Given the description of an element on the screen output the (x, y) to click on. 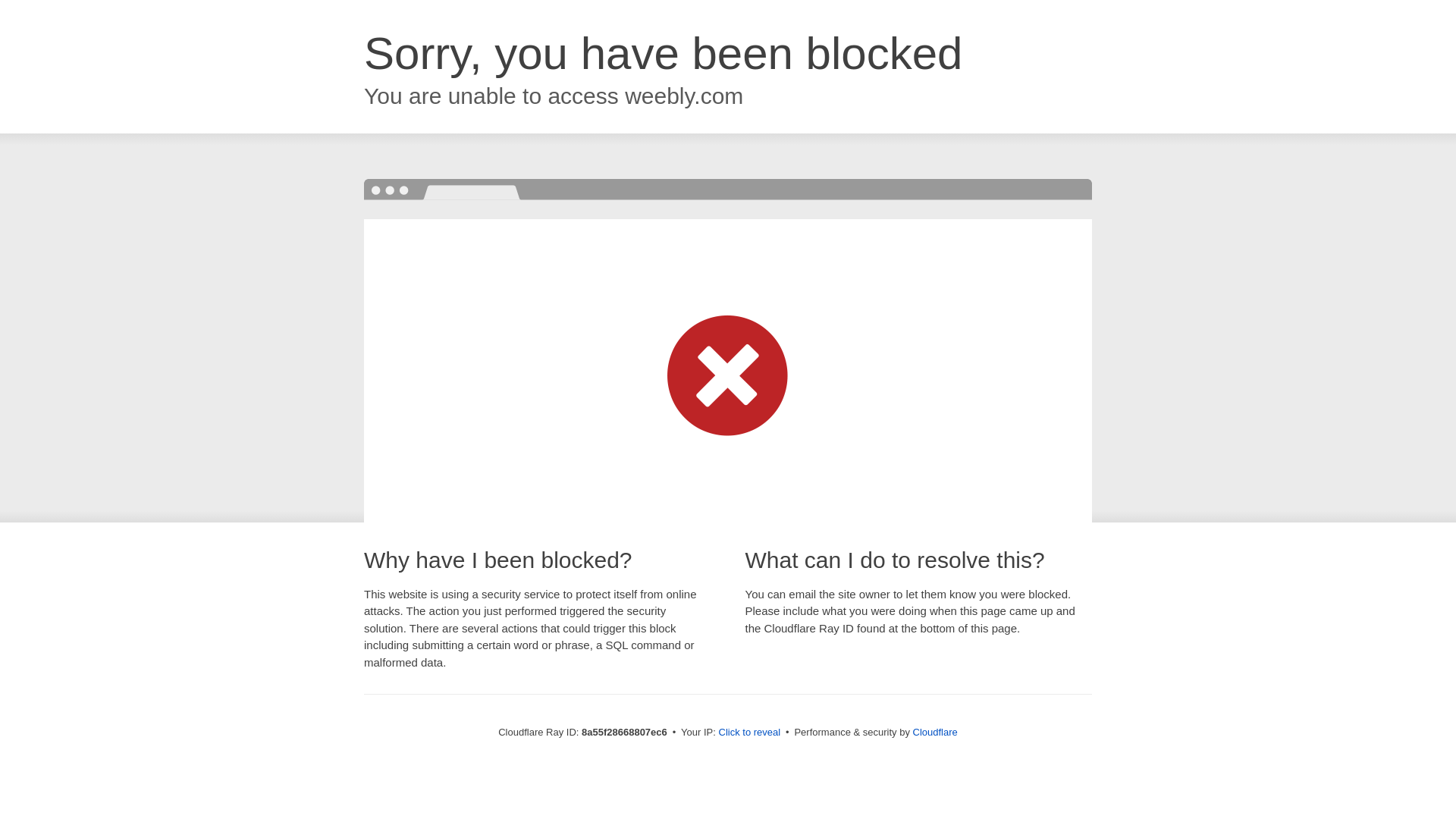
Click to reveal (749, 732)
Cloudflare (935, 731)
